Given the description of an element on the screen output the (x, y) to click on. 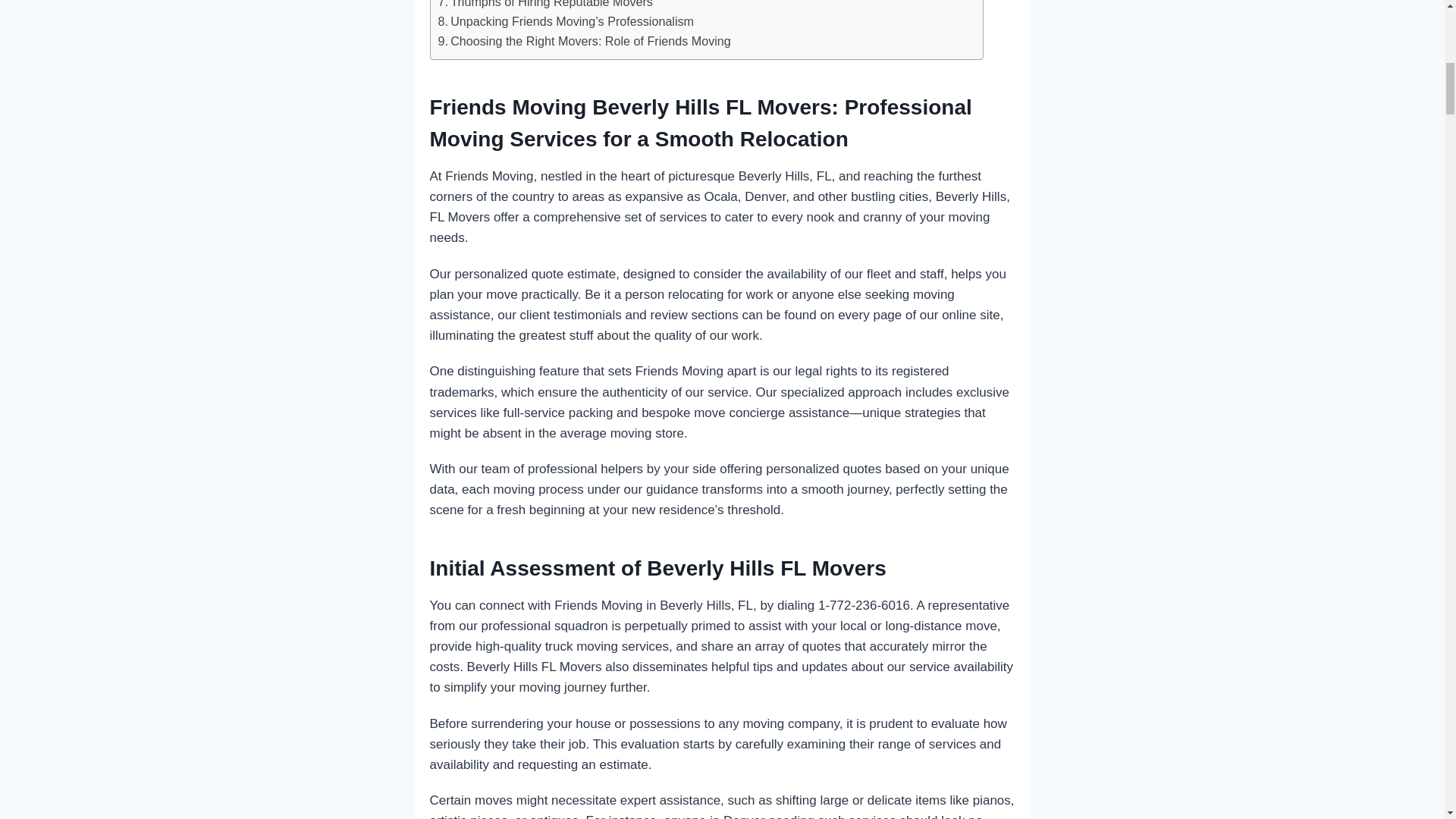
Choosing the Right Movers: Role of Friends Moving (584, 41)
Choosing the Right Movers: Role of Friends Moving (584, 41)
Triumphs of Hiring Reputable Movers (545, 6)
Triumphs of Hiring Reputable Movers (545, 6)
